Given the description of an element on the screen output the (x, y) to click on. 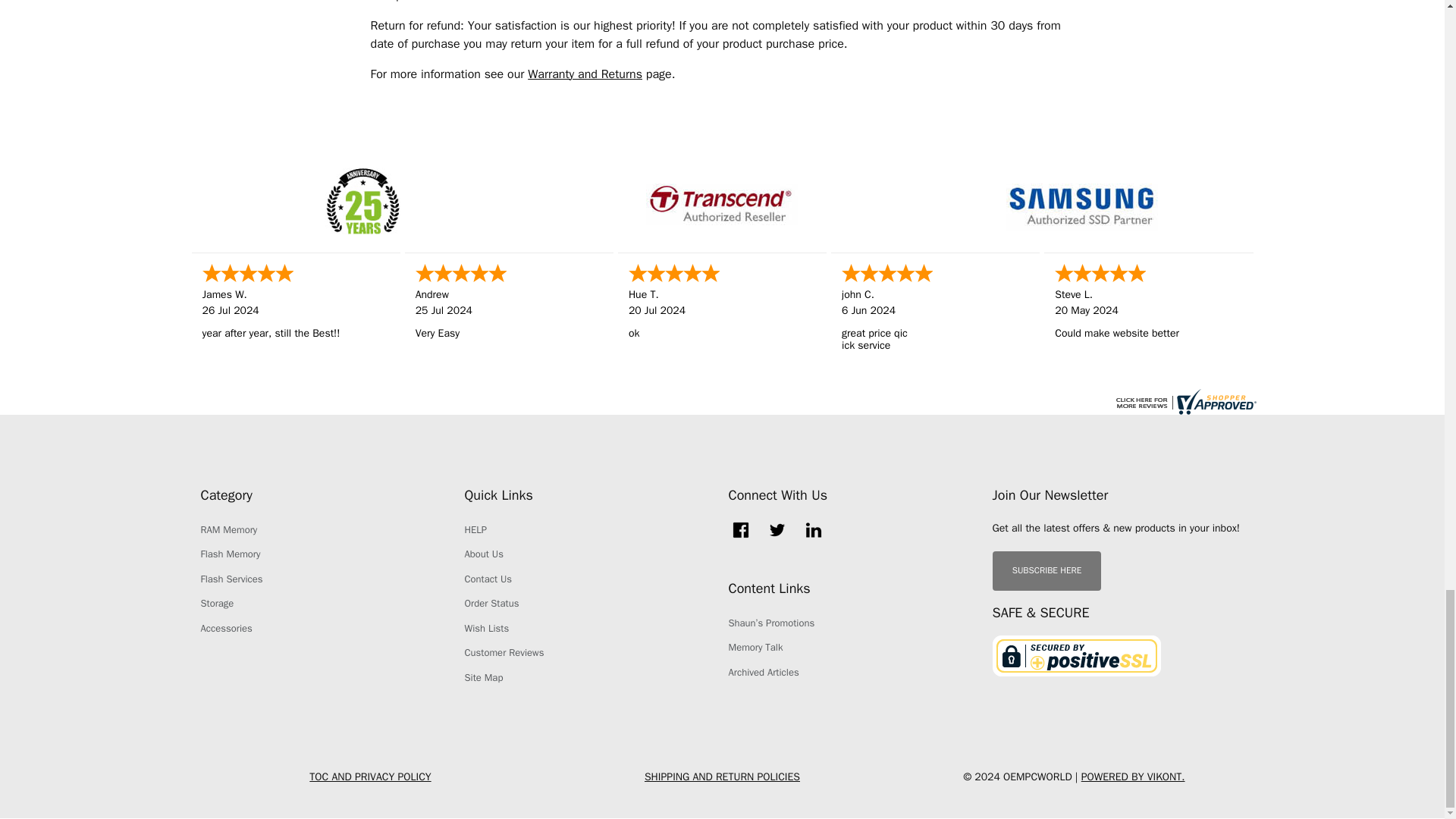
Twitter (776, 529)
Facebook (740, 529)
LinkedIn (812, 529)
Powered by Vikont (1133, 776)
